Given the description of an element on the screen output the (x, y) to click on. 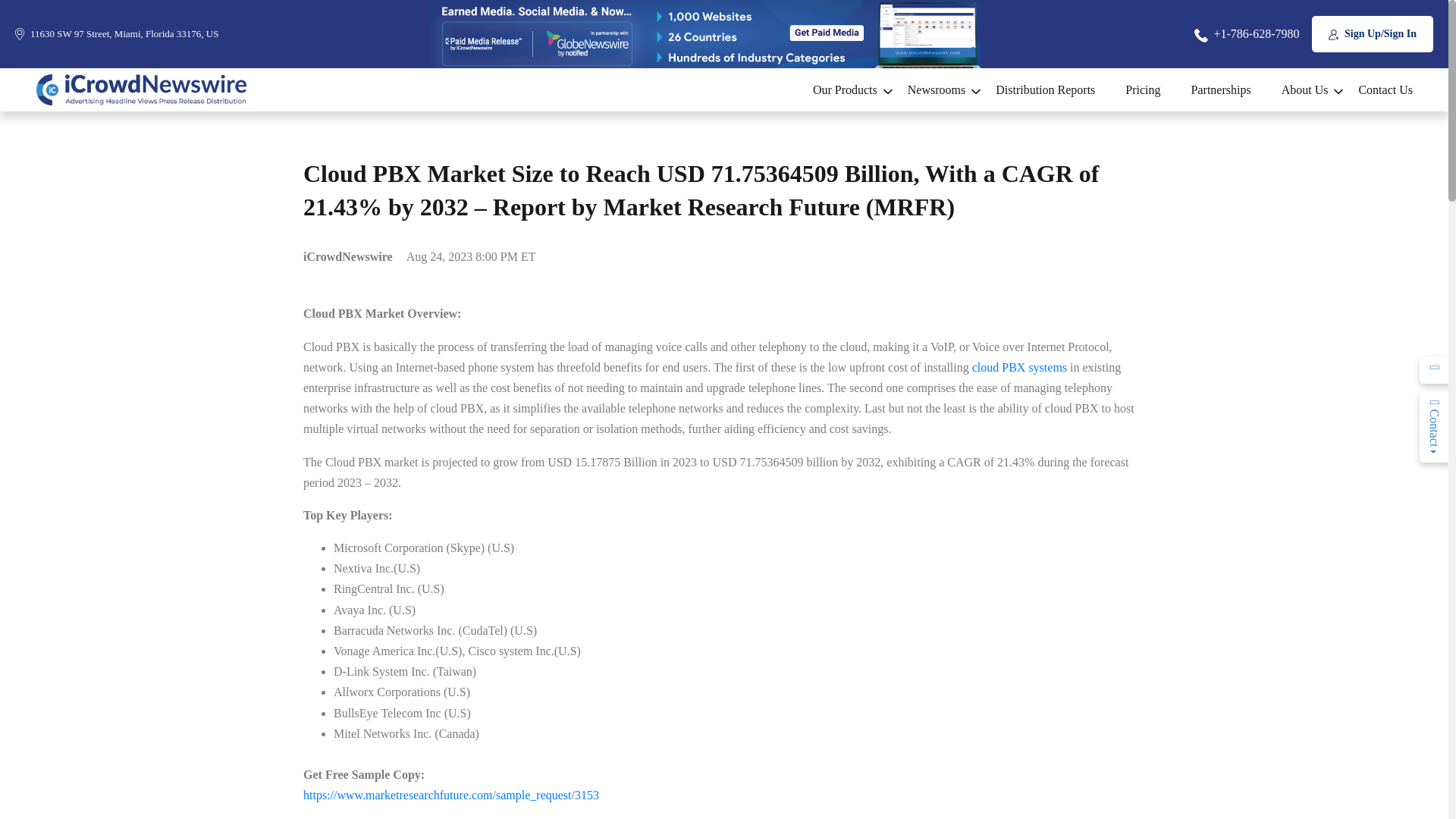
Pricing (1141, 89)
Distribution Reports (1044, 89)
Contact Us (1377, 89)
Newsrooms (935, 89)
Partnerships (1221, 89)
Our Products (844, 89)
About Us (1304, 89)
